Given the description of an element on the screen output the (x, y) to click on. 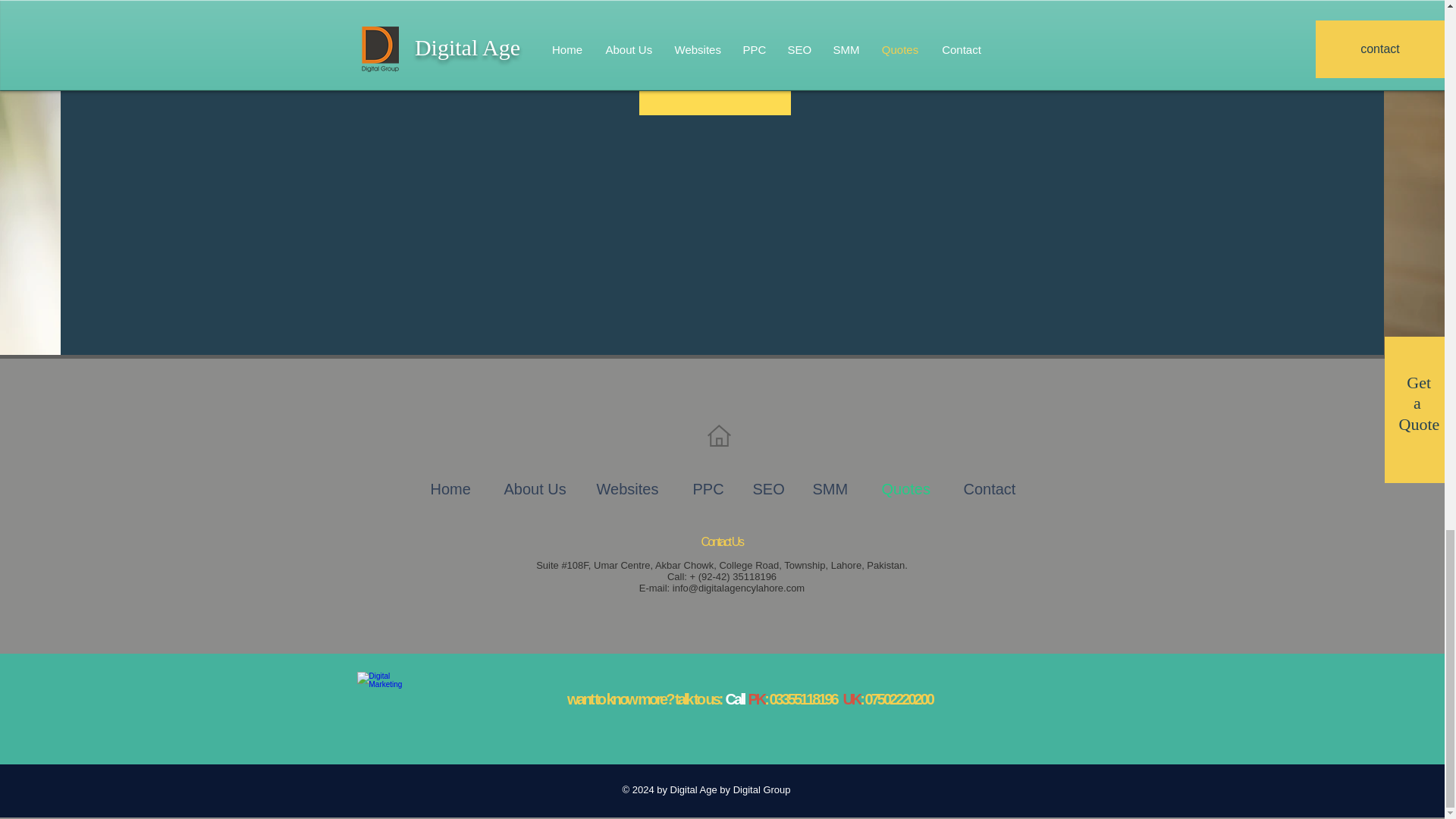
Get a quote for (709, 32)
SMM (714, 49)
